Given the description of an element on the screen output the (x, y) to click on. 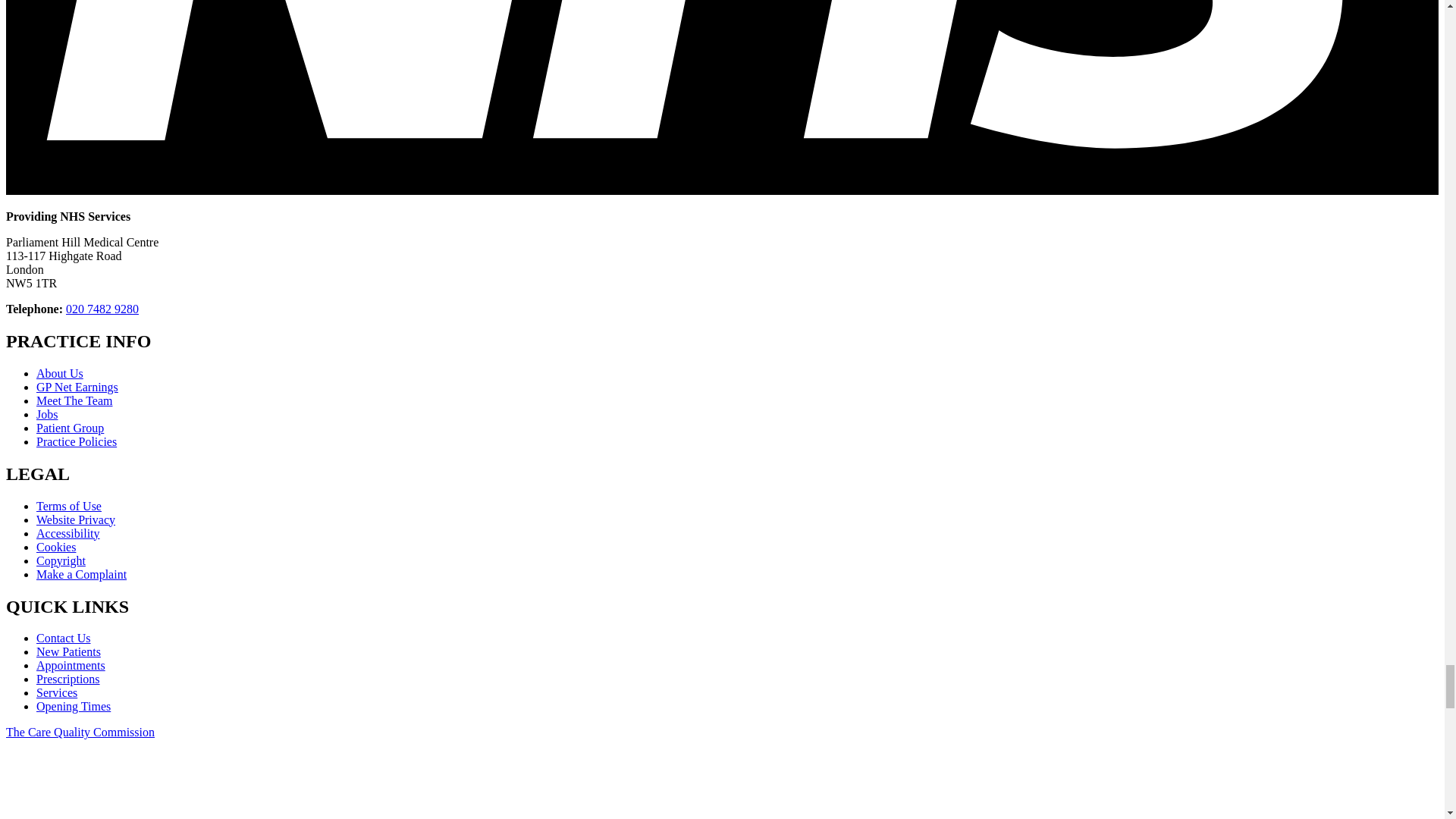
Terms of Use (68, 505)
Jobs (47, 413)
Prescriptions (68, 678)
Meet The Team (74, 400)
020 7482 9280 (101, 308)
Cookies (55, 546)
GP Net Earnings (76, 386)
About Us (59, 373)
Accessibility (68, 533)
Website Privacy (75, 519)
